Given the description of an element on the screen output the (x, y) to click on. 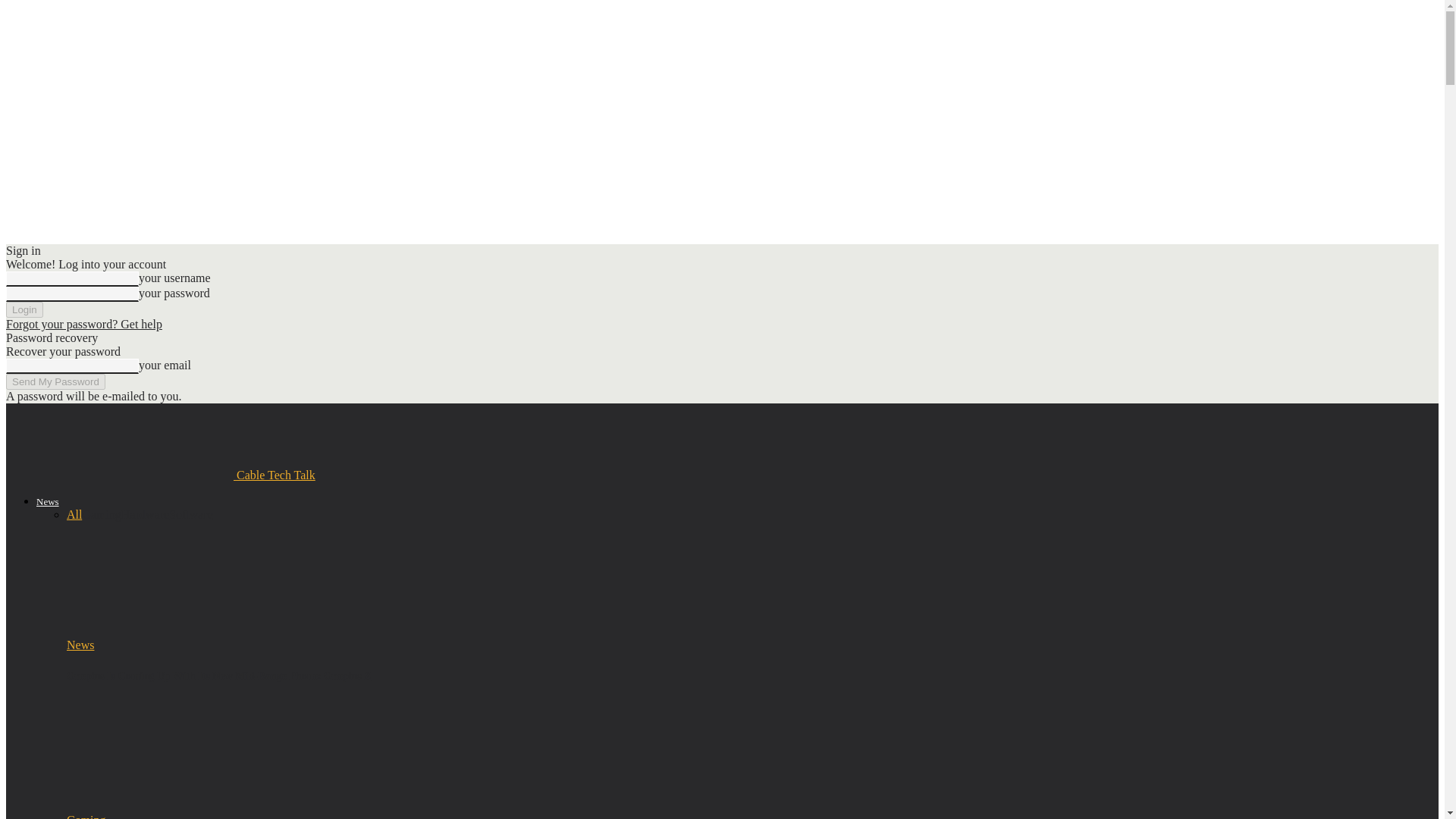
Oneplus Is Coming Up With Its New Mid-Range Phone: Oneplus Z (218, 675)
Hardware (144, 513)
All (73, 513)
Gaming (86, 816)
Gaming (100, 513)
Cable Tech Talk (160, 474)
Login (24, 309)
News (47, 501)
Go to Homepage (118, 441)
Oneplus Is Coming Up With Its New Mid-Range Phone: Oneplus Z (148, 631)
Oneplus Is Coming Up With Its New Mid-Range Phone: Oneplus Z (218, 675)
Oneplus Is Coming Up With Its New Mid-Range Phone: Oneplus Z (148, 578)
News (80, 644)
Send My Password (54, 381)
Software (190, 513)
